Given the description of an element on the screen output the (x, y) to click on. 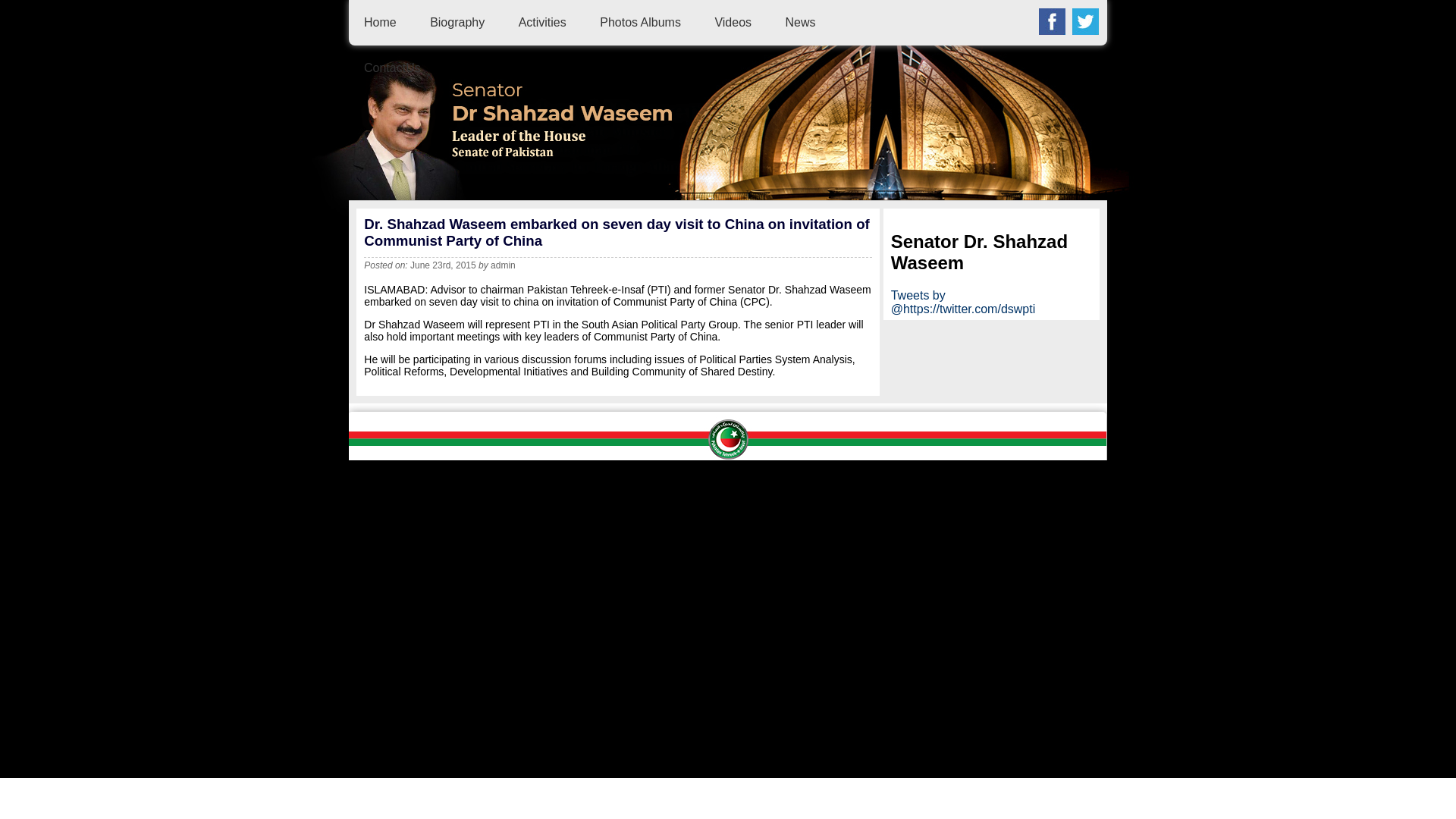
Photos Albums (640, 21)
Home (380, 21)
Videos (732, 21)
Biography (456, 21)
Activities (542, 21)
News (800, 21)
ContactUs (392, 67)
